Given the description of an element on the screen output the (x, y) to click on. 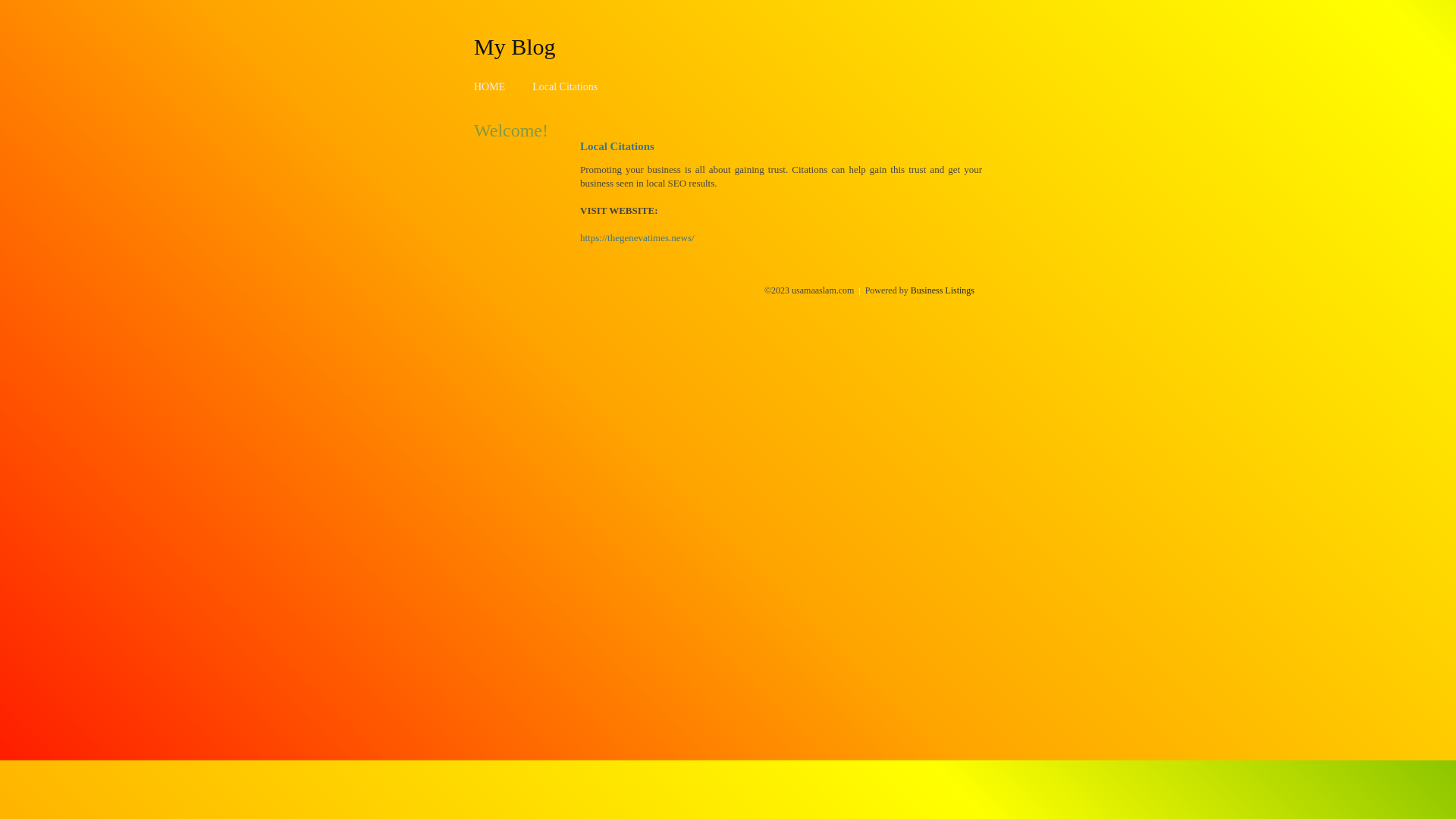
Local Citations Element type: text (564, 86)
https://thegenevatimes.news/ Element type: text (637, 237)
HOME Element type: text (489, 86)
My Blog Element type: text (514, 46)
Business Listings Element type: text (942, 290)
